Given the description of an element on the screen output the (x, y) to click on. 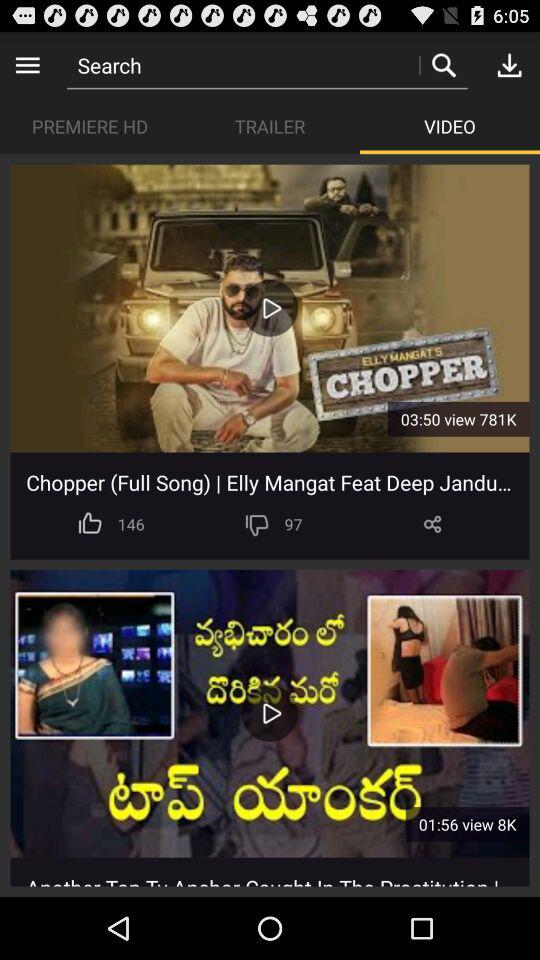
launch the item to the right of the 97 icon (432, 523)
